Given the description of an element on the screen output the (x, y) to click on. 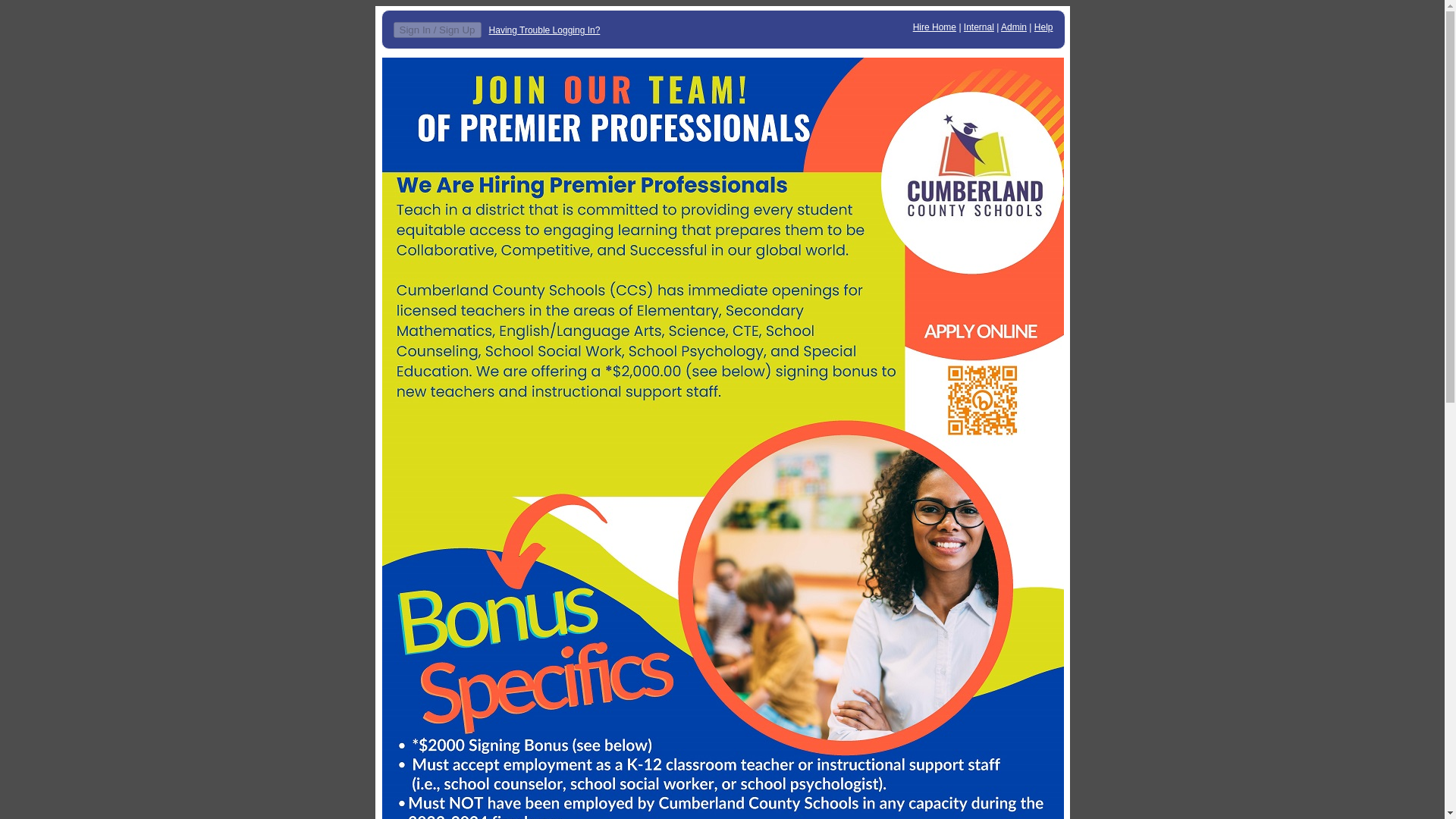
Having Trouble Logging In? (544, 30)
Internal (978, 27)
Hire Home (934, 27)
Admin (1013, 27)
Help (1042, 27)
